Given the description of an element on the screen output the (x, y) to click on. 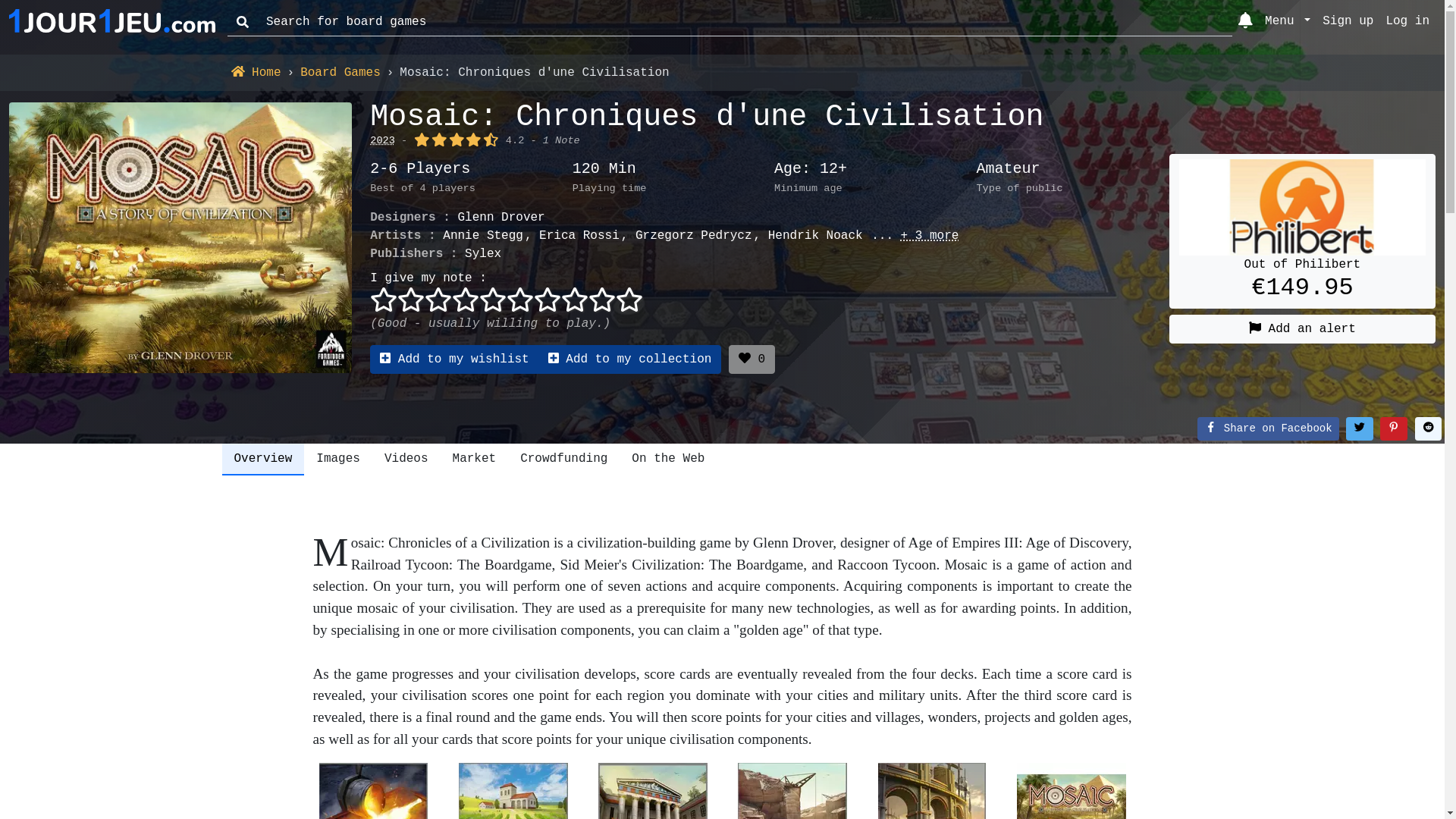
Age: 12+ Element type: text (870, 169)
Mosaic: Chroniques d'une Civilisation Element type: text (706, 117)
Annie Stegg Element type: text (482, 235)
Board Games Element type: text (340, 72)
1jour-1jeu.com Element type: hover (112, 21)
Home
Home Element type: text (255, 72)
Images Element type: text (338, 459)
Glenn Drover Element type: text (500, 217)
2023 Element type: text (382, 140)
Videos Element type: text (406, 459)
Grzegorz Pedrycz Element type: text (686, 235)
+ 3 more Element type: text (911, 235)
Erica Rossi Element type: text (571, 235)
Share on Pinterest Element type: text (1393, 428)
Overview Element type: text (262, 459)
Go! Element type: text (226, 7)
Add to my wishlist Element type: text (454, 359)
Notifications Element type: hover (1245, 22)
On the Web Element type: text (667, 459)
2-6 Players Element type: text (466, 169)
Hendrik Noack Element type: text (807, 235)
Market Element type: text (474, 459)
Sign up Element type: text (1347, 21)
0 Element type: text (751, 359)
Add an alert Element type: text (1302, 328)
Share on Facebook Element type: text (1268, 428)
120 Min Element type: text (668, 169)
Crowdfunding Element type: text (563, 459)
Share on Reddit Element type: text (1428, 428)
Add to my collection Element type: text (629, 359)
Menu Element type: text (1287, 21)
Log in Element type: text (1407, 21)
Amateur Element type: text (1071, 169)
Share on Twitter Element type: text (1359, 428)
Sylex Element type: text (482, 253)
Mosaic: Chroniques d'une Civilisation Element type: hover (180, 237)
